Given the description of an element on the screen output the (x, y) to click on. 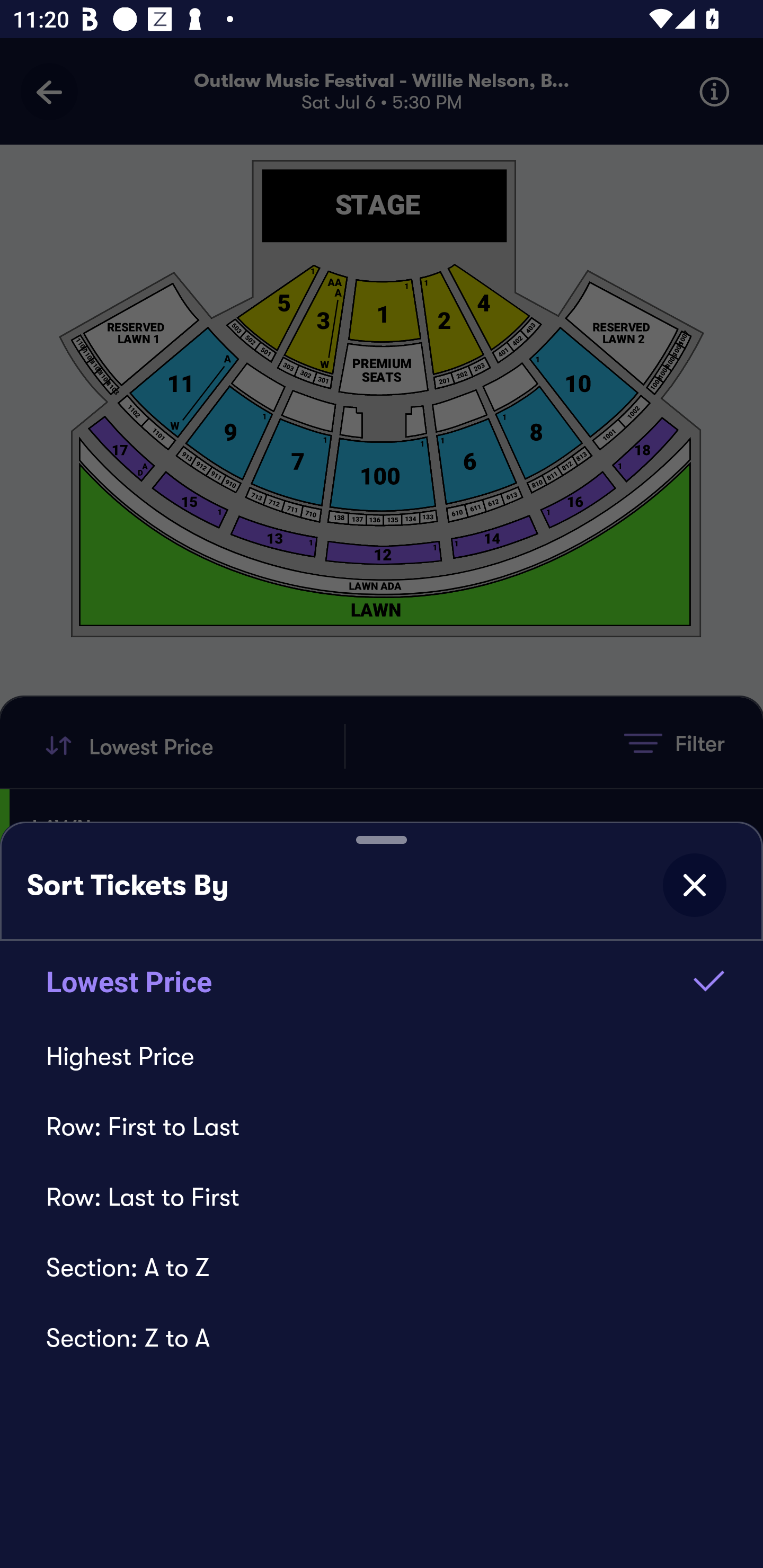
close (694, 884)
Lowest Price (381, 980)
Highest Price (381, 1055)
Row: First to Last (381, 1126)
Row: Last to First (381, 1196)
Section: A to Z (381, 1267)
Section: Z to A (381, 1338)
